Given the description of an element on the screen output the (x, y) to click on. 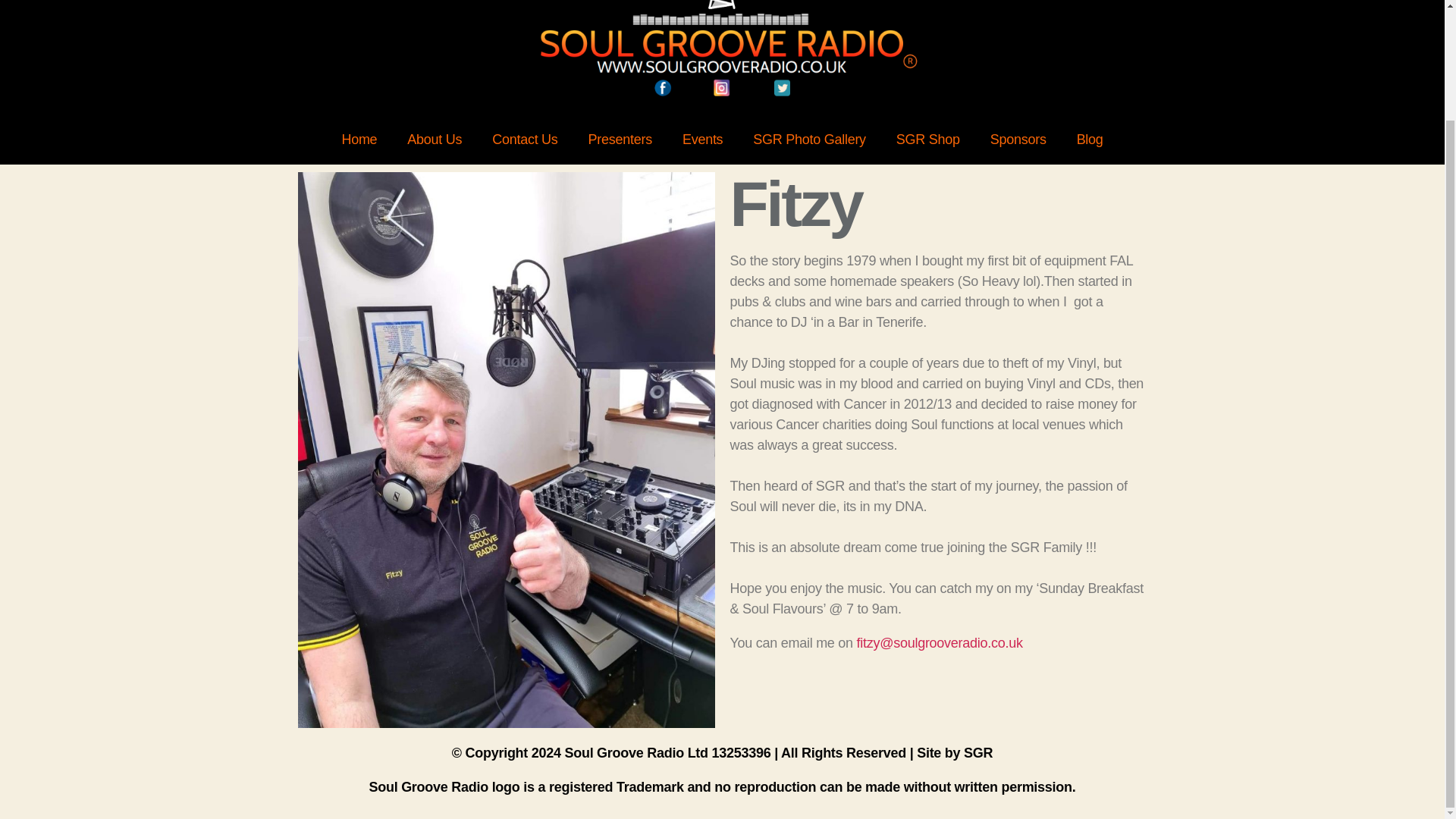
About Us (434, 139)
SGR Photo Gallery (809, 139)
Sponsors (1018, 139)
Contact Us (524, 139)
SGR Shop (927, 139)
Presenters (619, 139)
Events (702, 139)
Blog (1089, 139)
Home (358, 139)
